Given the description of an element on the screen output the (x, y) to click on. 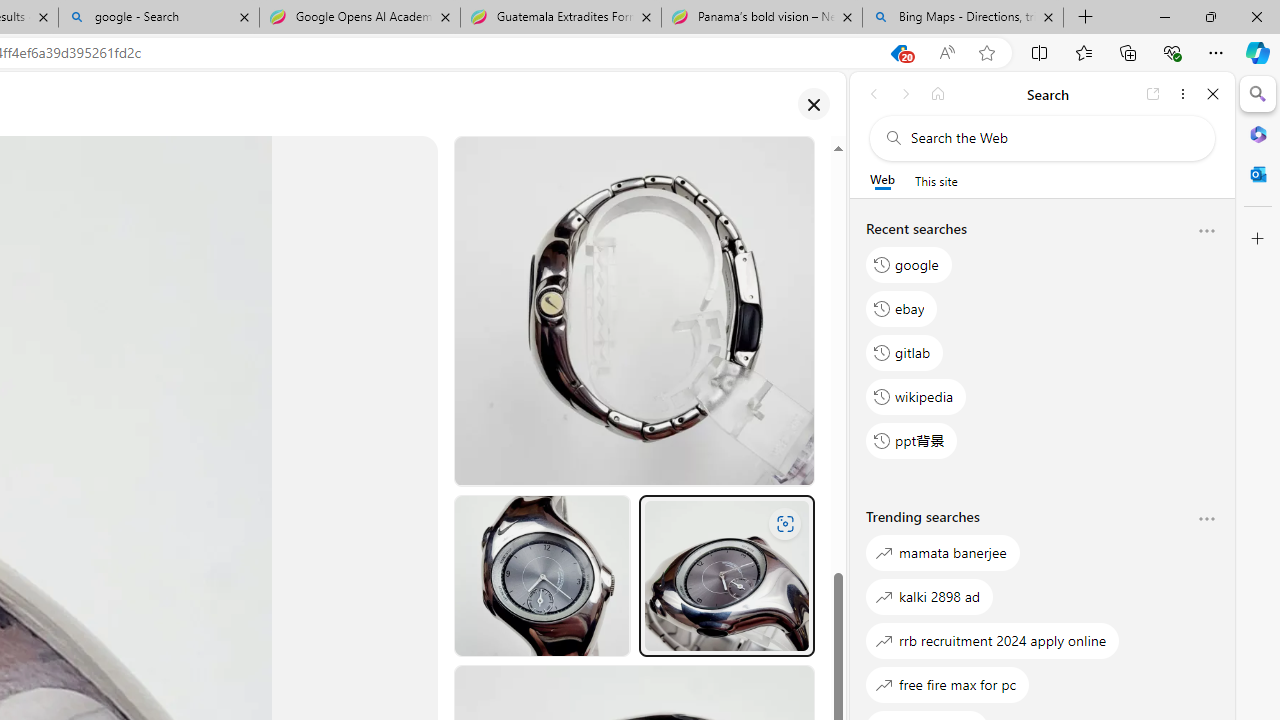
kalki 2898 ad (930, 596)
wikipedia (916, 396)
Google Opens AI Academy for Startups - Nearshore Americas (359, 17)
